Given the description of an element on the screen output the (x, y) to click on. 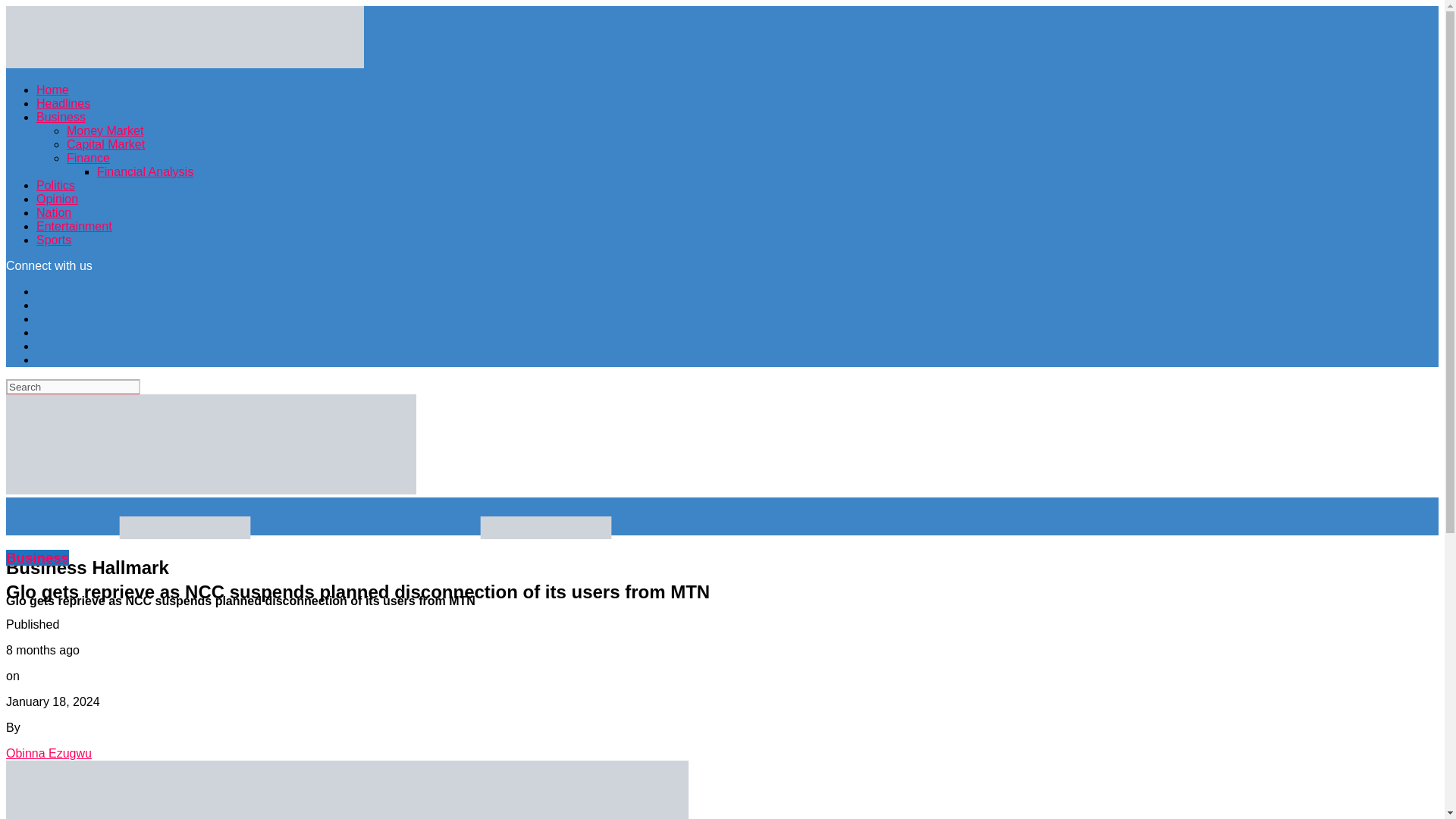
Financial Analysis (145, 171)
Capital Market (105, 144)
Search (72, 386)
Opinion (57, 198)
Sports (53, 239)
Nation (53, 212)
Business (60, 116)
Home (52, 89)
Politics (55, 185)
Headlines (63, 103)
